Given the description of an element on the screen output the (x, y) to click on. 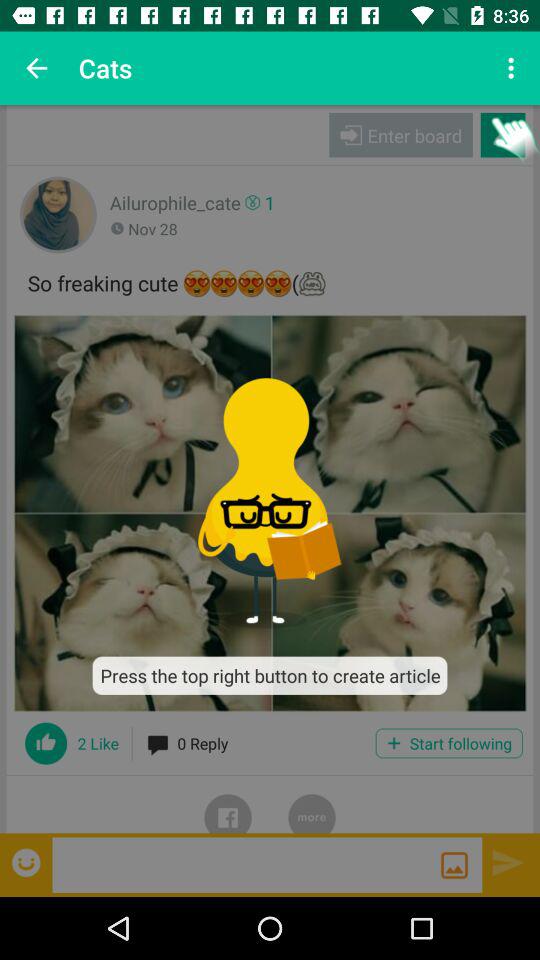
send message (508, 862)
